Given the description of an element on the screen output the (x, y) to click on. 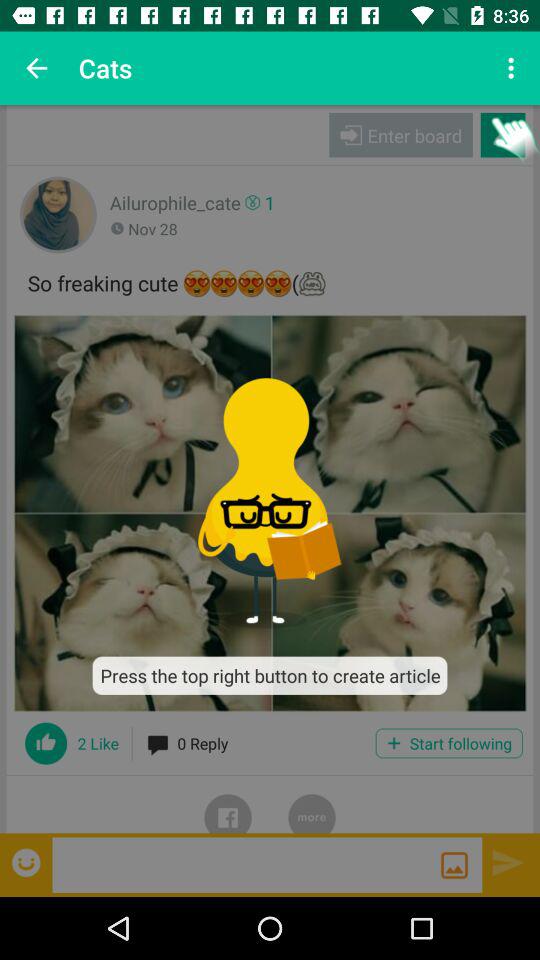
send message (508, 862)
